Given the description of an element on the screen output the (x, y) to click on. 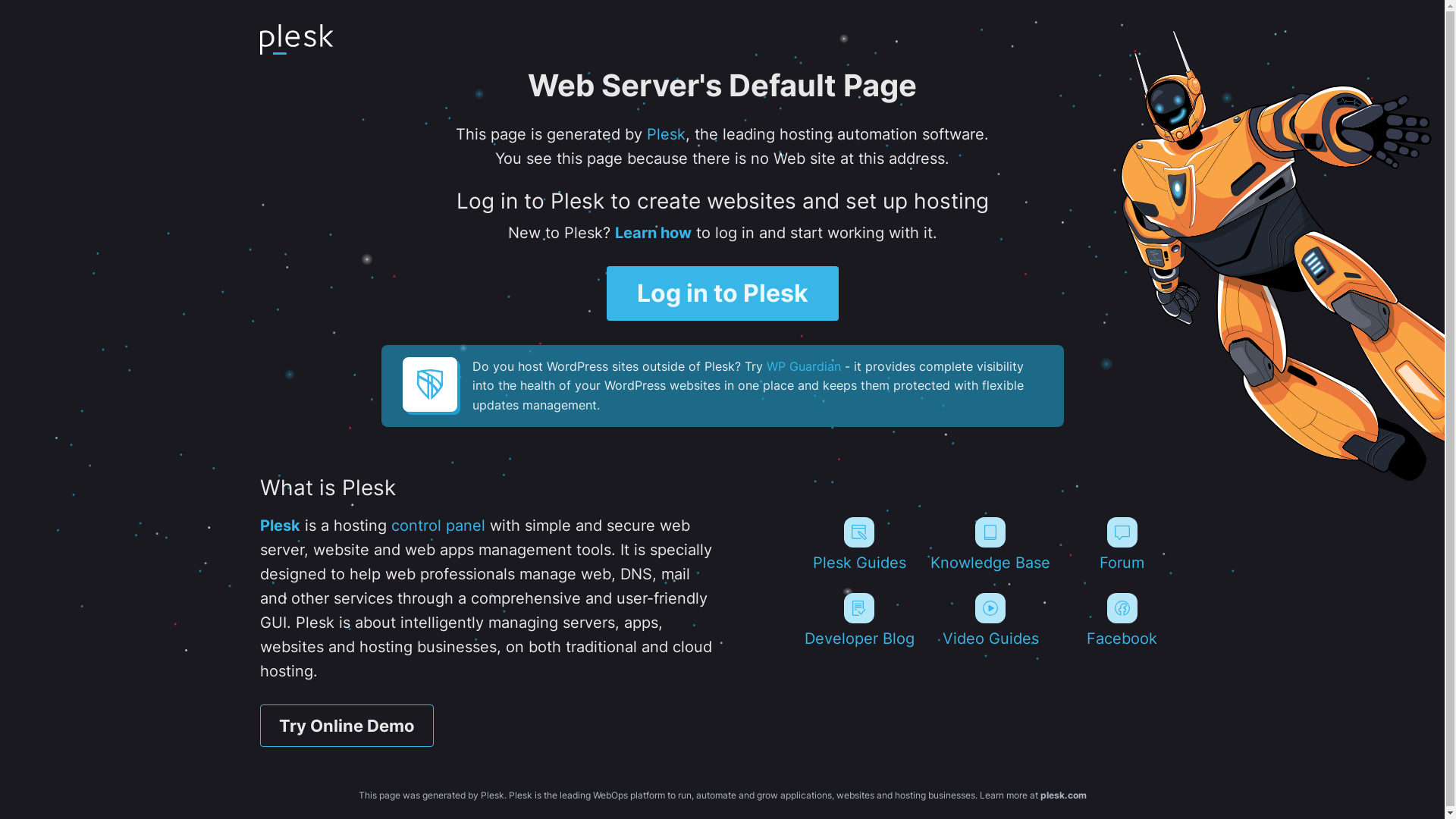
Knowledge Base Element type: text (990, 544)
Forum Element type: text (1121, 544)
Plesk Element type: text (279, 525)
Log in to Plesk Element type: text (722, 293)
Video Guides Element type: text (990, 620)
plesk.com Element type: text (1063, 794)
WP Guardian Element type: text (802, 365)
control panel Element type: text (438, 525)
Facebook Element type: text (1121, 620)
Try Online Demo Element type: text (346, 725)
Plesk Element type: text (665, 134)
Plesk Guides Element type: text (858, 544)
Developer Blog Element type: text (858, 620)
Learn how Element type: text (652, 232)
